Given the description of an element on the screen output the (x, y) to click on. 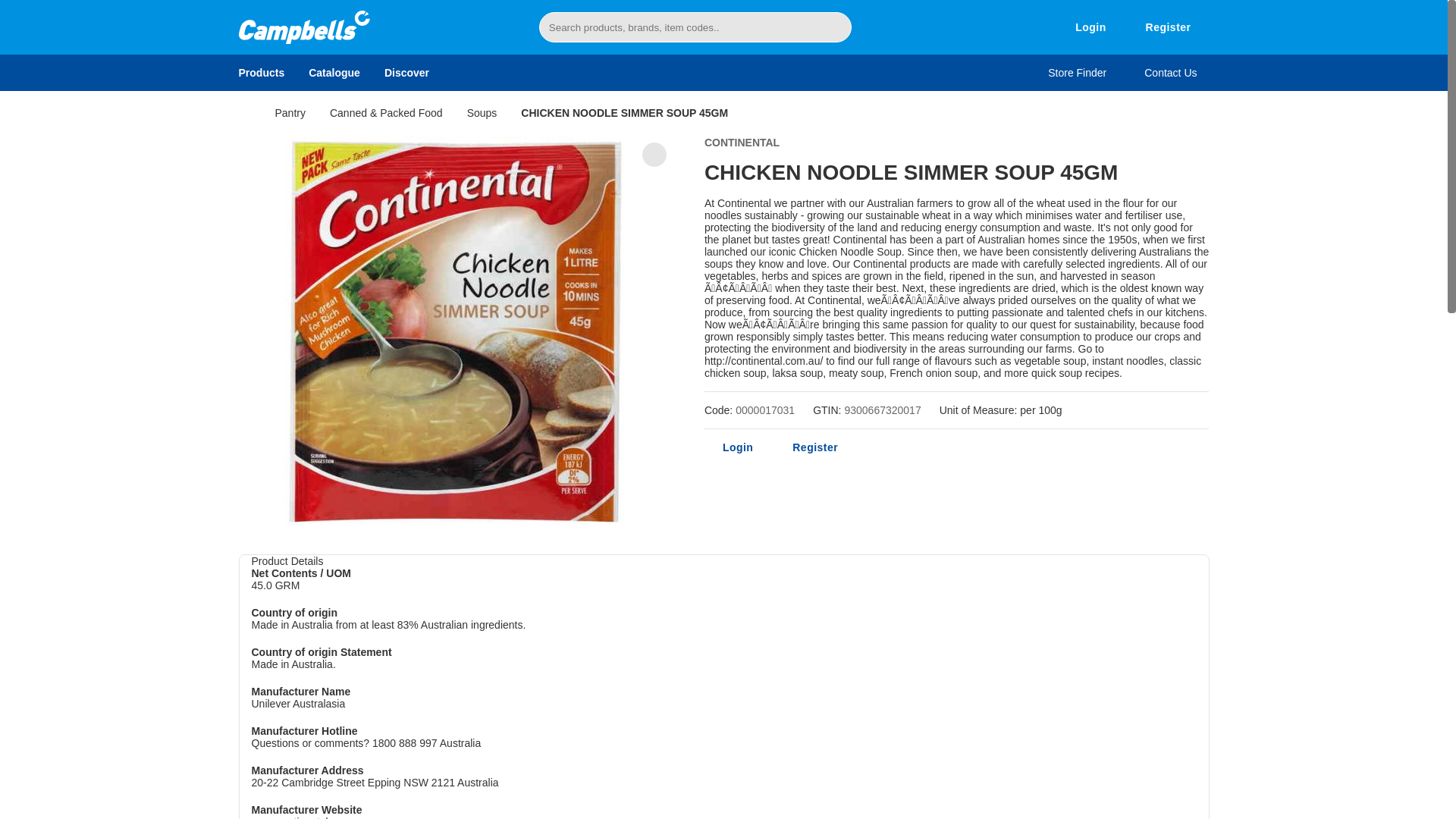
Store Finder (1083, 72)
Enlarged view of picture (654, 154)
Discover (406, 72)
Campbells (303, 27)
Catalogue (334, 72)
Login (1090, 27)
Register (1167, 27)
Products (267, 72)
Products (267, 72)
